Given the description of an element on the screen output the (x, y) to click on. 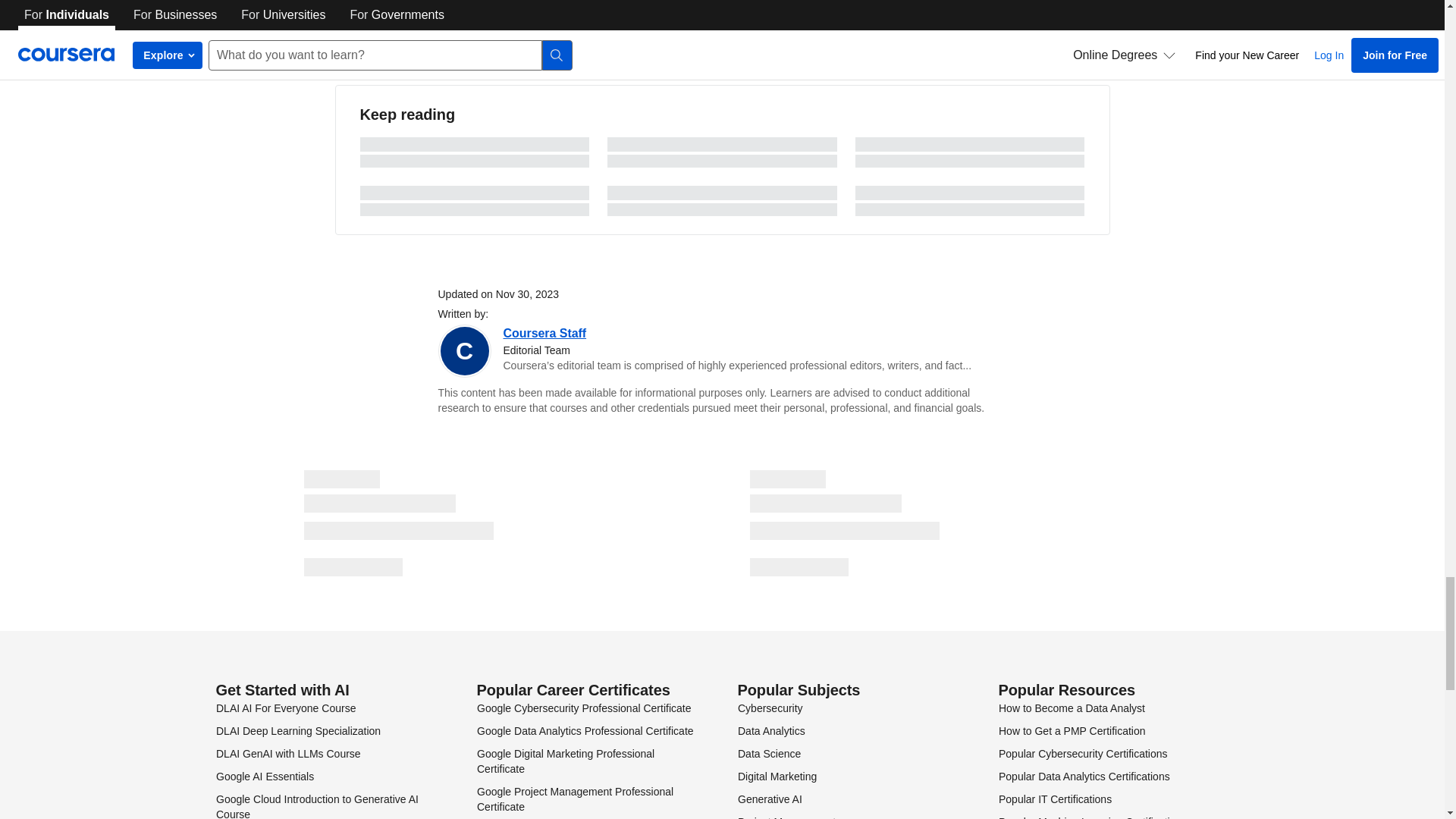
View all sources (722, 21)
DLAI AI For Everyone Course (285, 707)
Coursera Staff (544, 332)
DLAI GenAI with LLMs Course (287, 753)
Google AI Essentials (264, 776)
Google Cloud Introduction to Generative AI Course (316, 806)
DLAI Deep Learning Specialization (297, 730)
